Given the description of an element on the screen output the (x, y) to click on. 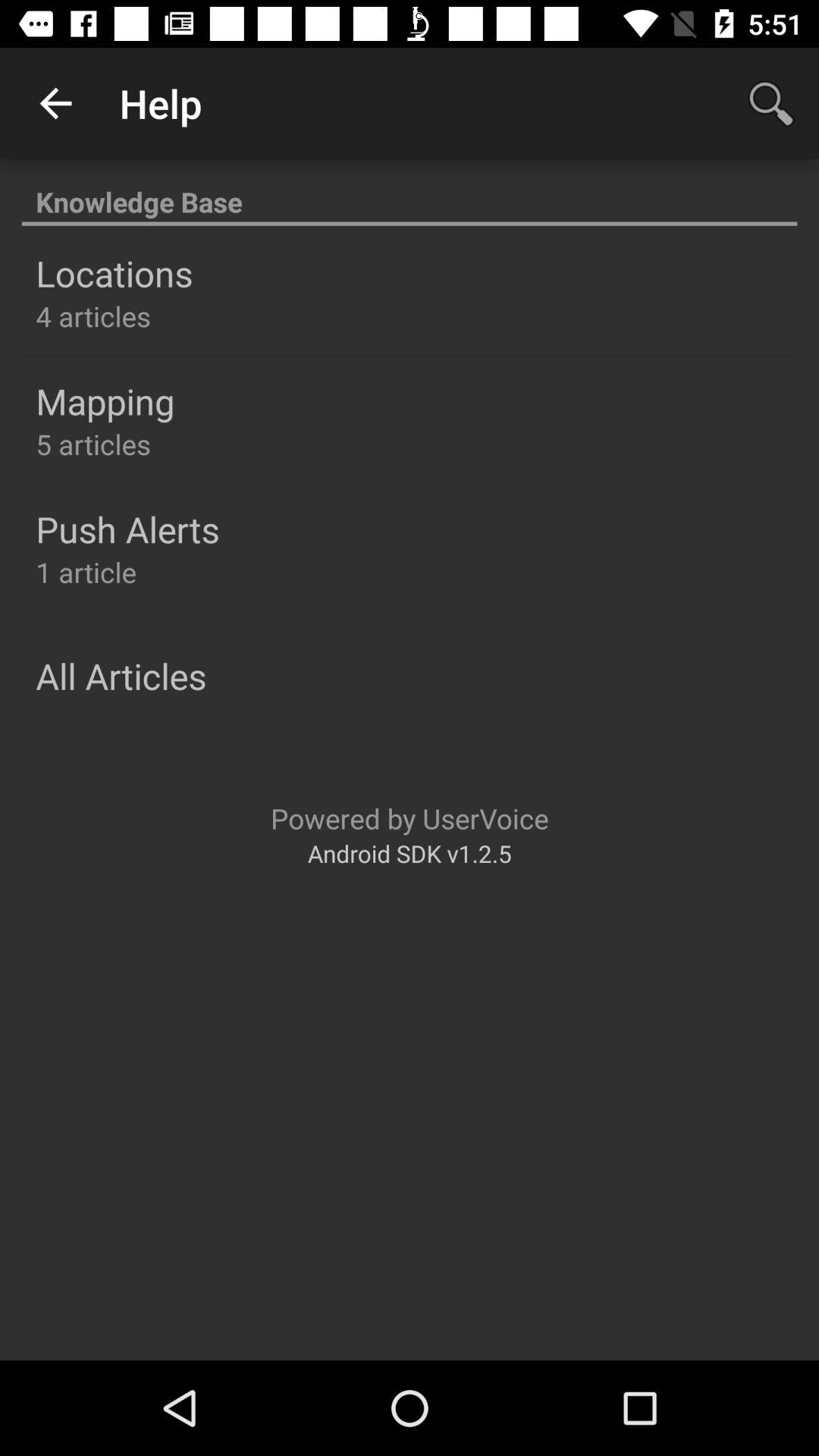
select icon above 5 articles item (104, 401)
